Given the description of an element on the screen output the (x, y) to click on. 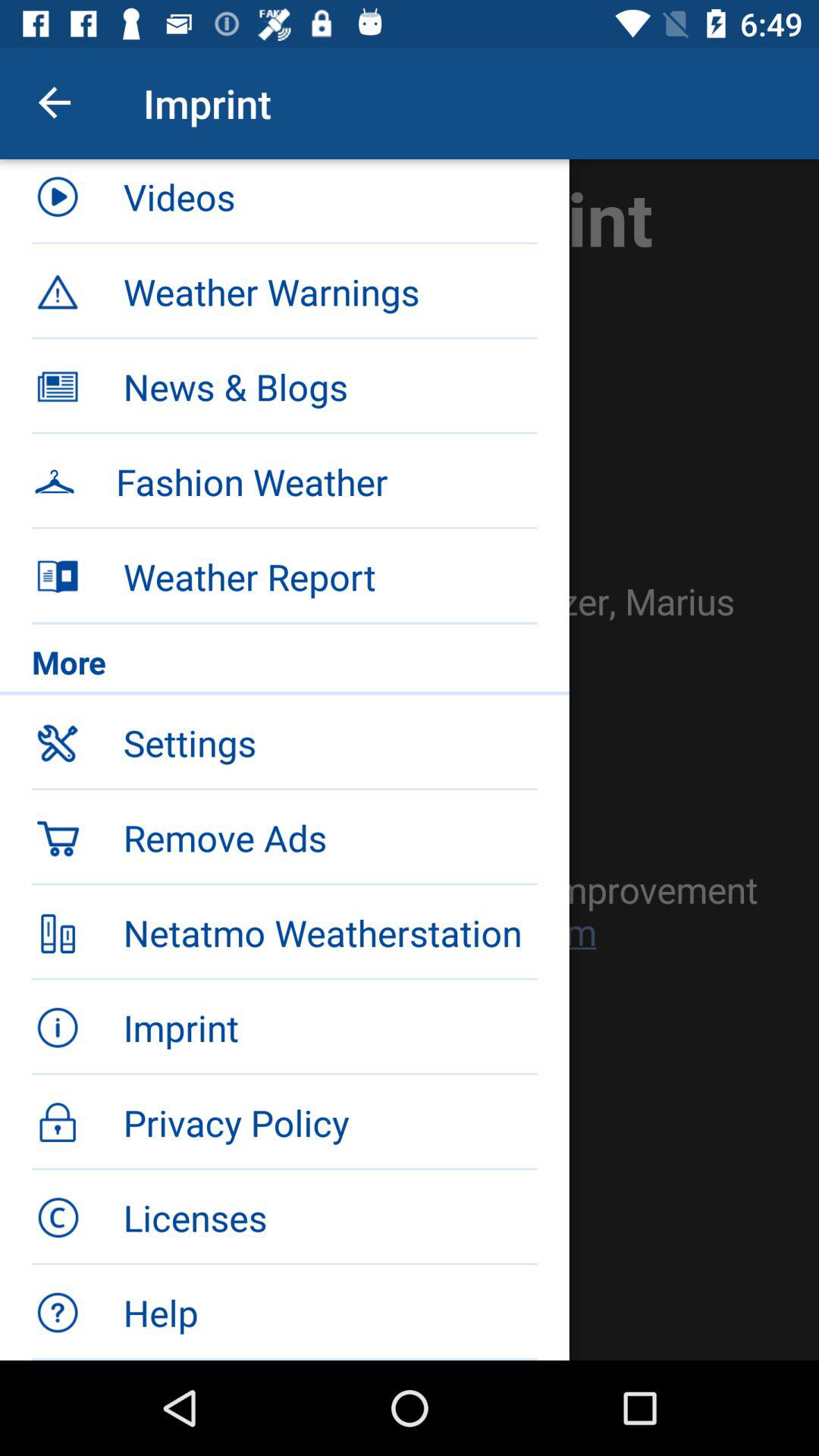
click item below the remove ads item (284, 930)
